Given the description of an element on the screen output the (x, y) to click on. 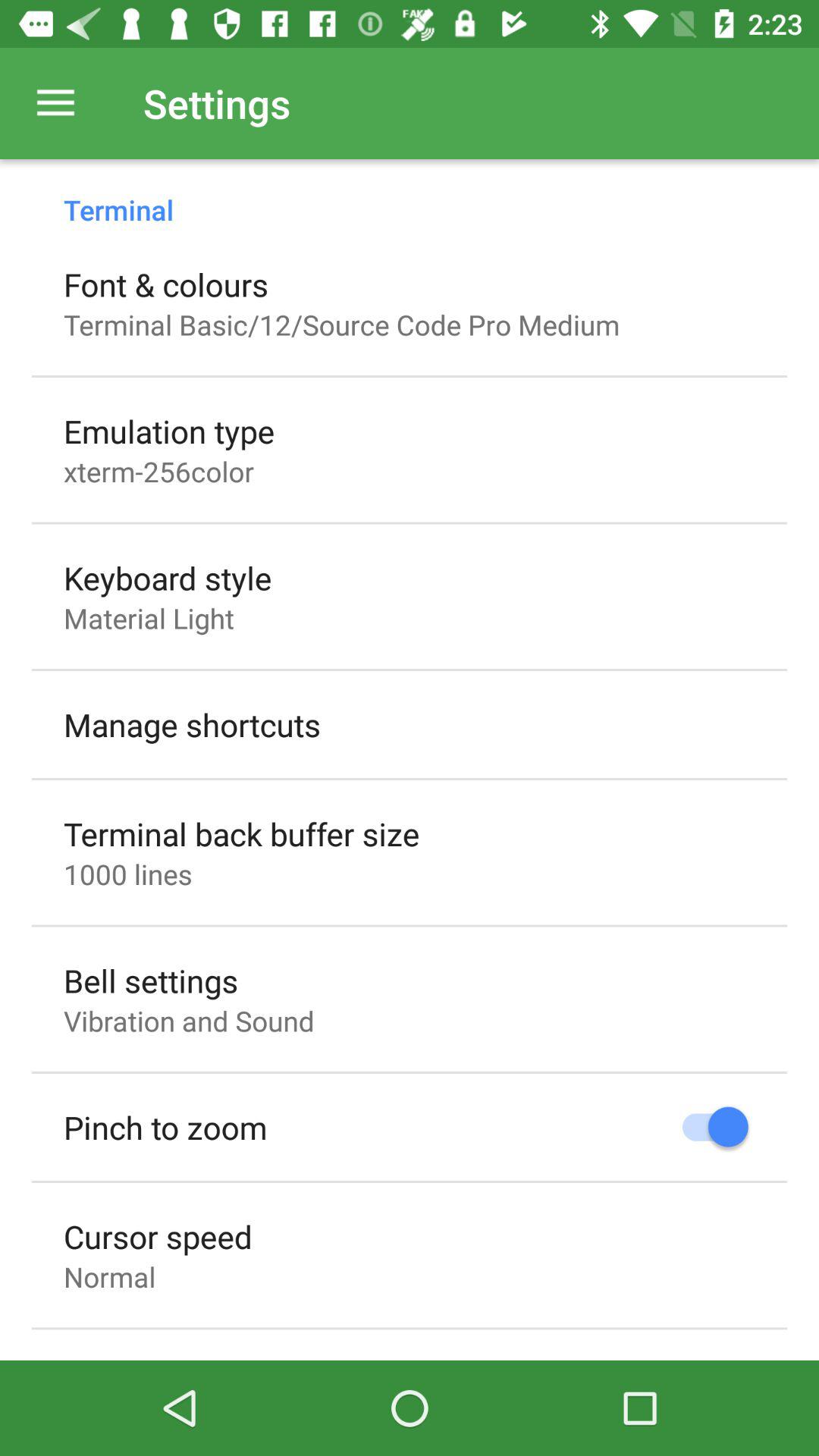
turn on the item below terminal basic 12 (168, 430)
